Given the description of an element on the screen output the (x, y) to click on. 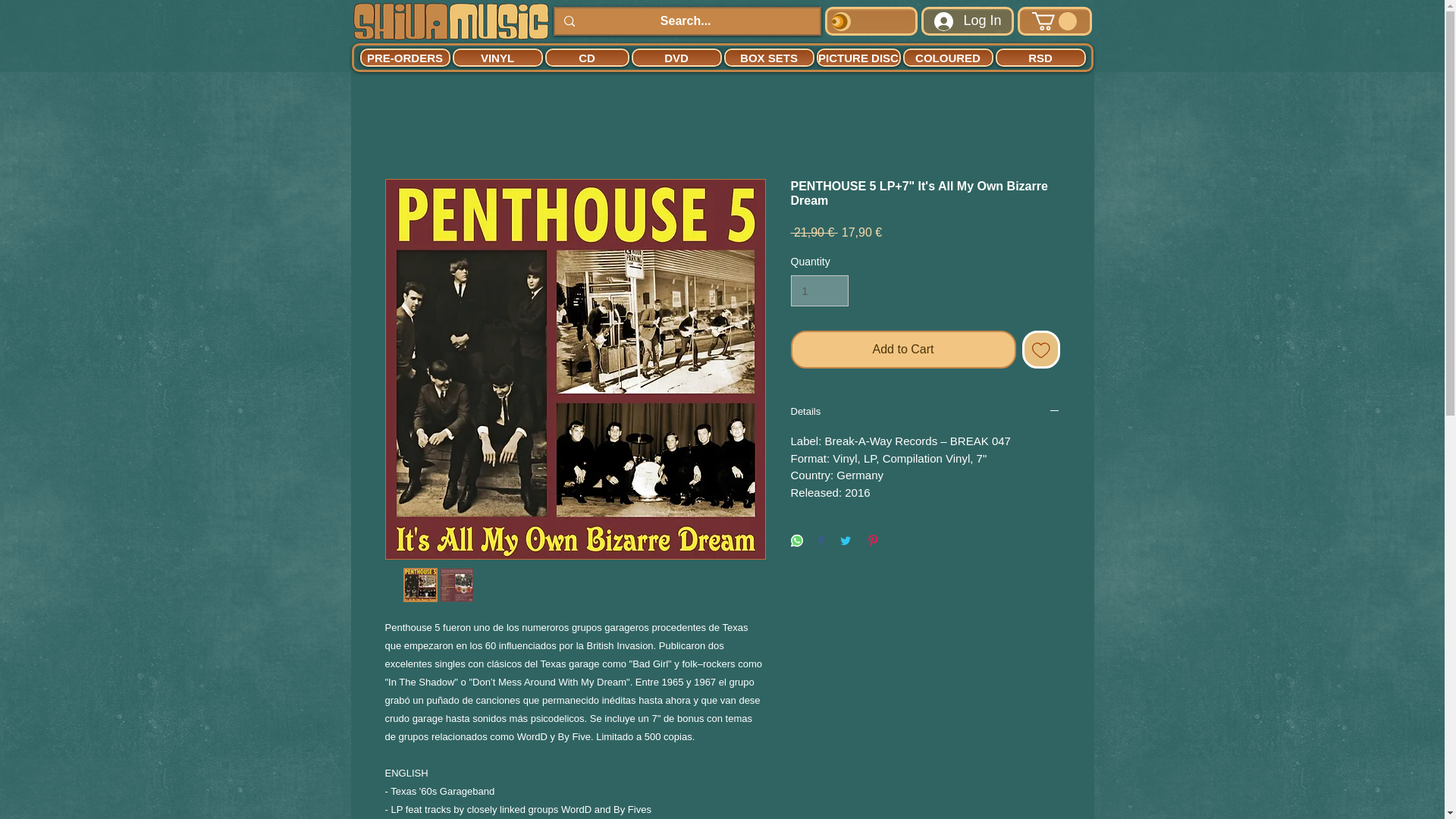
DVD (675, 57)
PRE-ORDERS (404, 57)
1 (818, 290)
Add to Cart (902, 349)
PICTURE DISC (857, 57)
CD (586, 57)
Log In (967, 20)
shiva music.jpg (450, 20)
COLOURED (947, 57)
VINYL (496, 57)
